Given the description of an element on the screen output the (x, y) to click on. 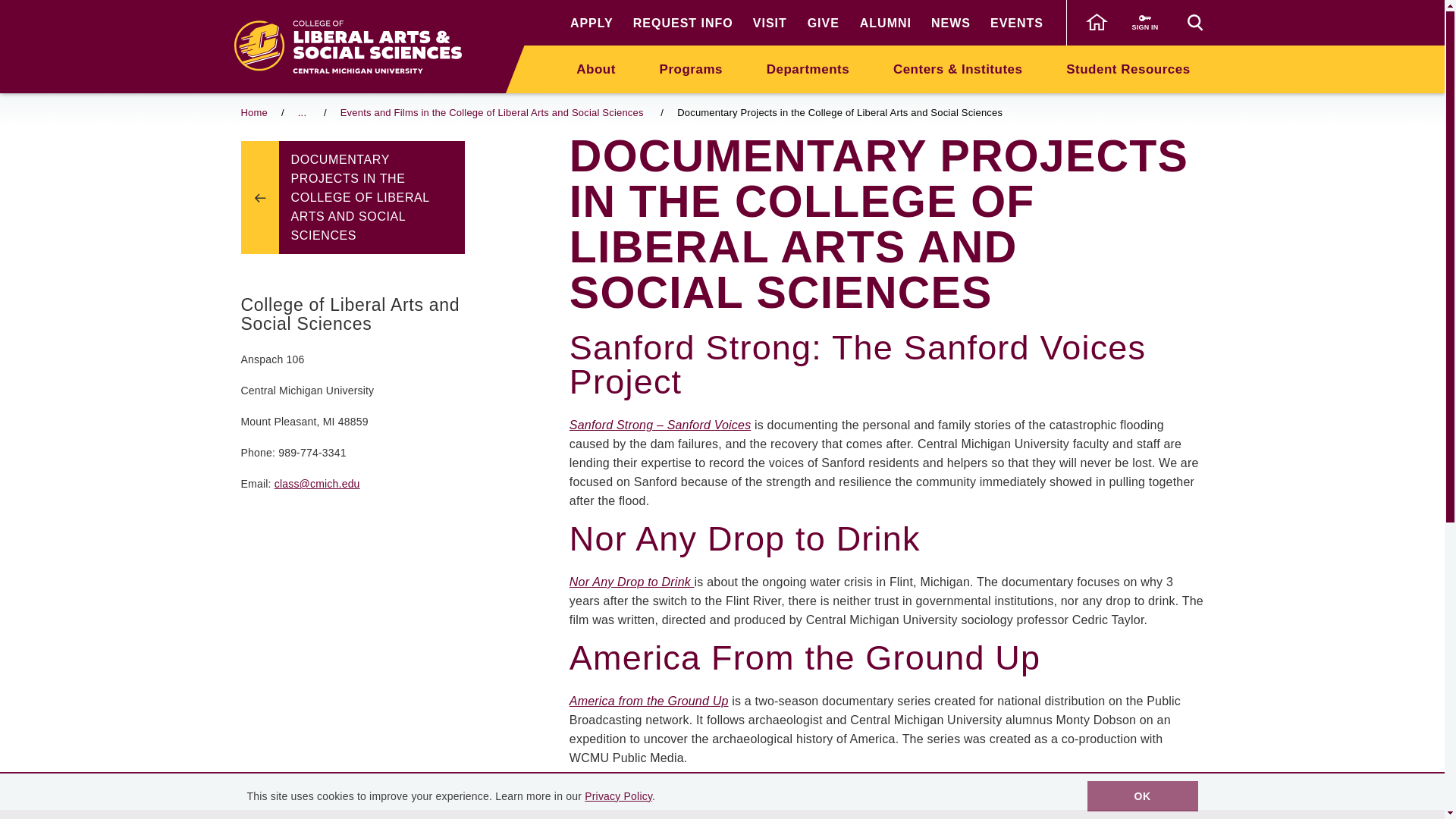
SIGN IN (1145, 22)
Privacy Policy (618, 796)
EVENTS (1016, 23)
OK (1142, 796)
ALUMNI (885, 23)
About (596, 68)
REQUEST INFO (683, 23)
Student Resources (1127, 68)
APPLY (591, 23)
America from the Ground Up (649, 700)
NEWS (951, 23)
Departments (807, 68)
Programs (691, 68)
